Given the description of an element on the screen output the (x, y) to click on. 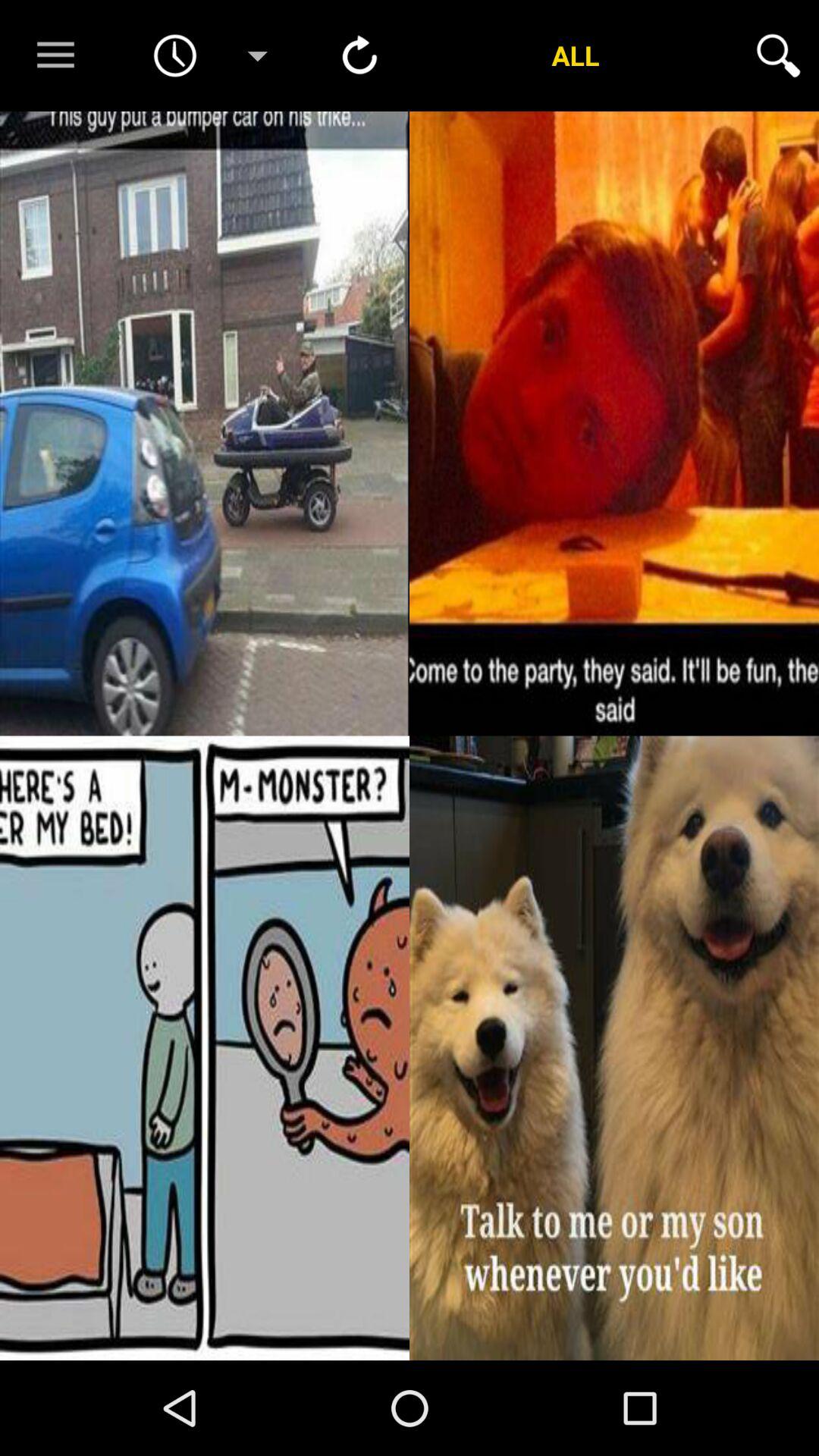
view image (614, 1047)
